Given the description of an element on the screen output the (x, y) to click on. 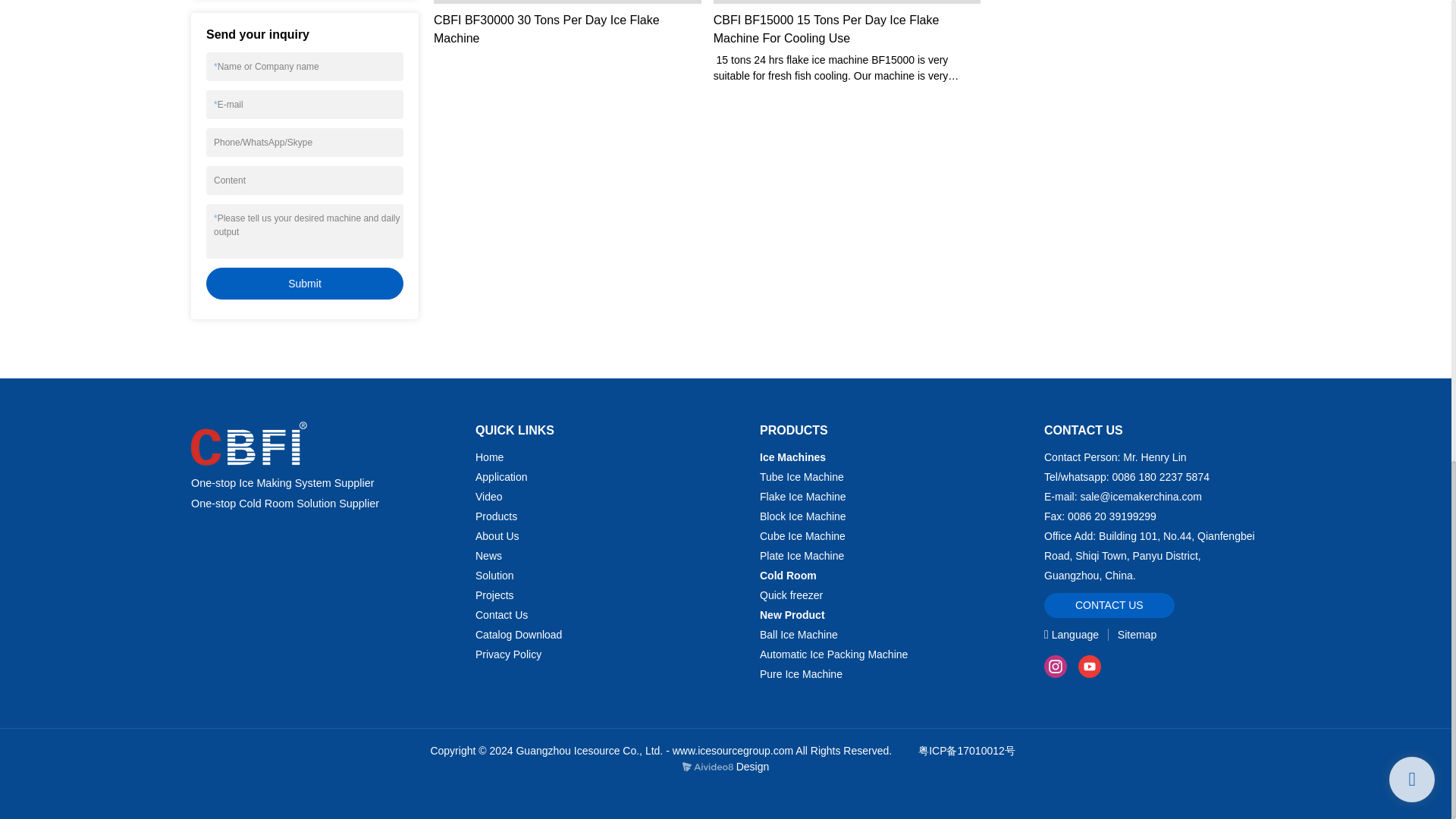
CBFI BF30000 30 Tons Per Day Ice Flake Machine (567, 29)
